Given the description of an element on the screen output the (x, y) to click on. 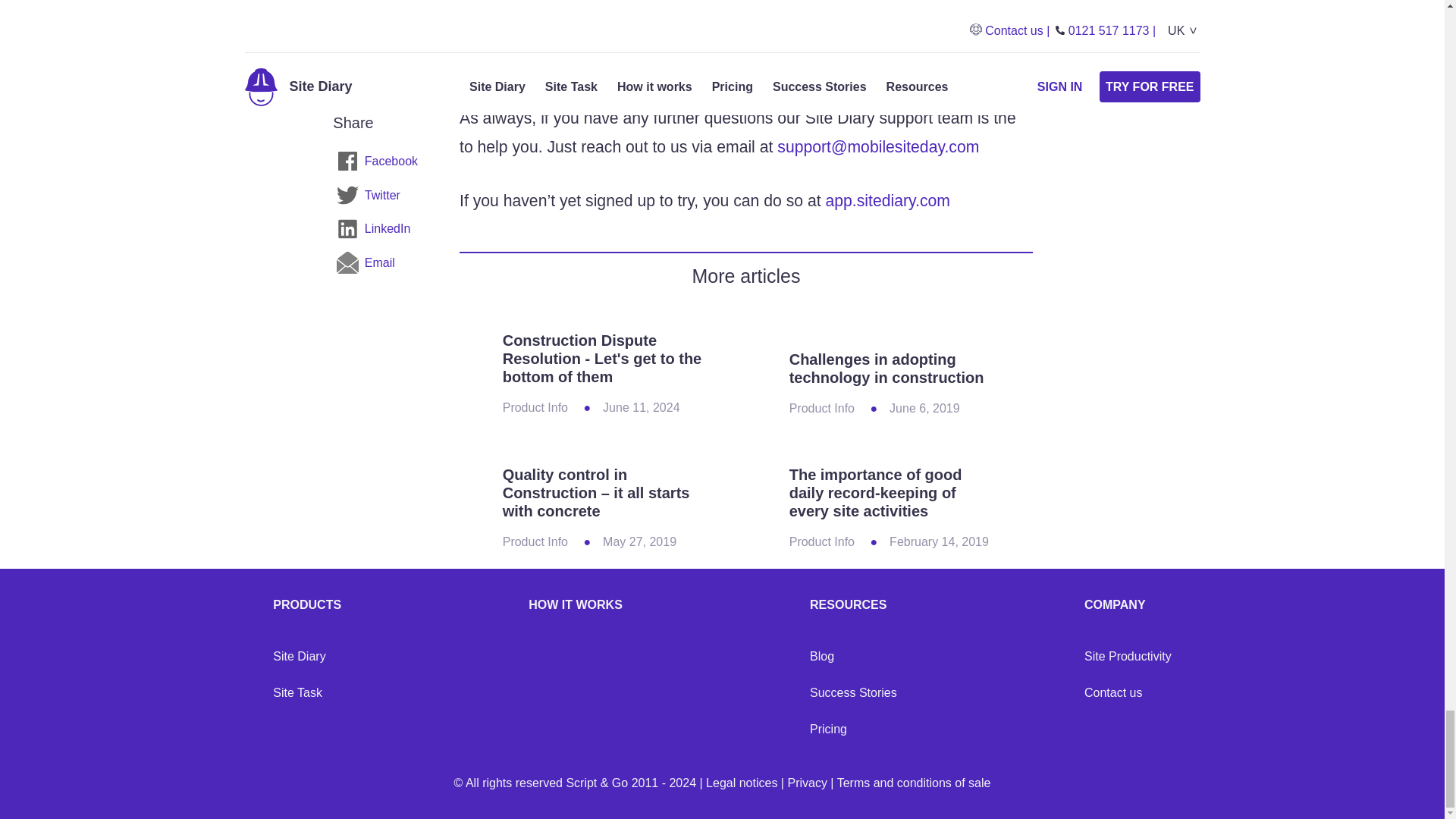
Challenges in adopting technology in construction (889, 328)
app.sitediary.com (887, 200)
more productivity (636, 64)
Site Diary (298, 656)
Challenges in adopting technology in construction (886, 368)
Site Task (297, 692)
HOW IT WORKS (575, 604)
PRODUCTS (306, 604)
RESOURCES (852, 604)
